Given the description of an element on the screen output the (x, y) to click on. 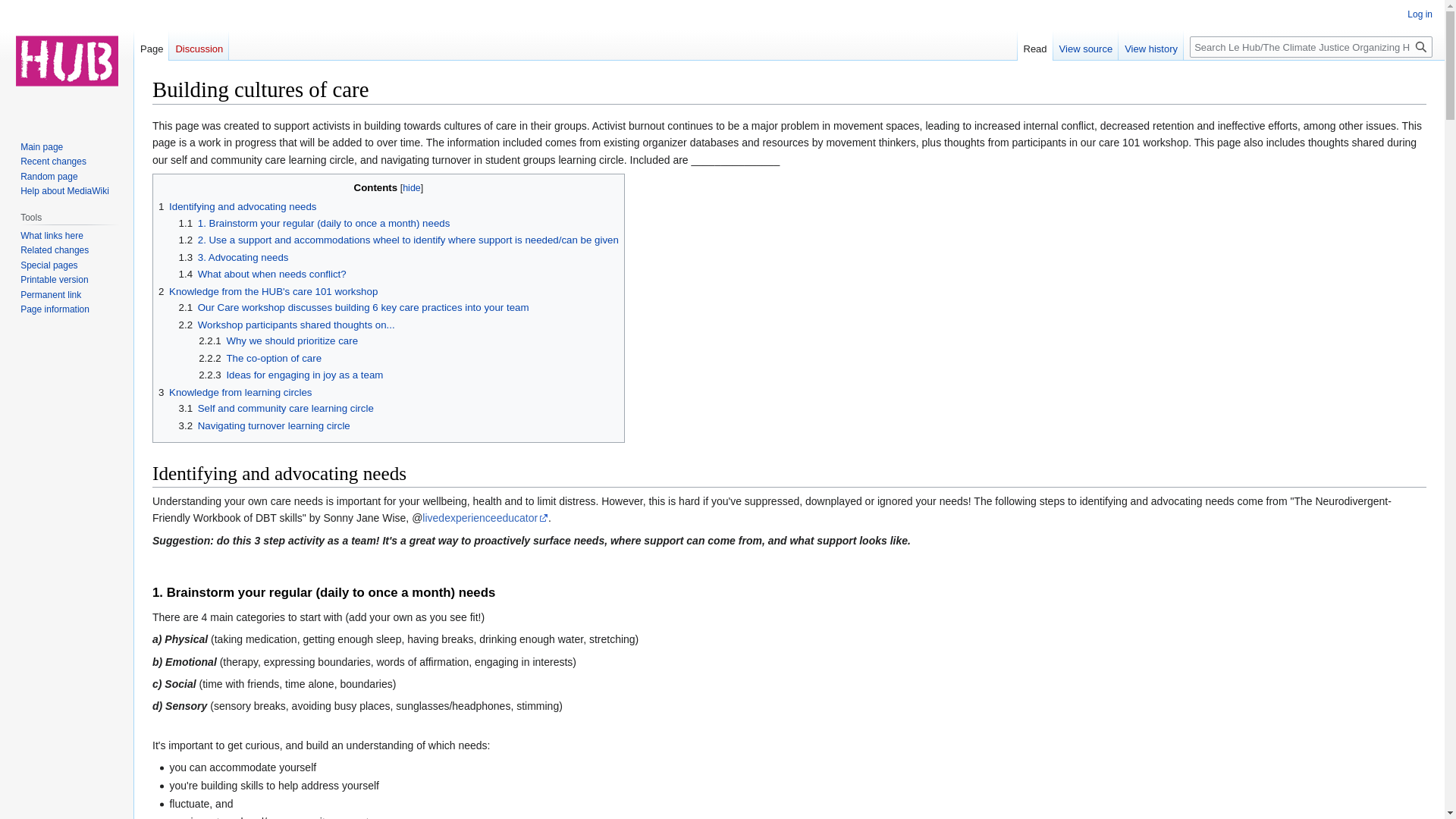
Visit the main page (66, 60)
Search (1420, 46)
Log in (1419, 14)
Go (1420, 46)
Read (1034, 45)
3.2 Navigating turnover learning circle (264, 425)
Page (150, 45)
1 Identifying and advocating needs (236, 206)
Search (1420, 46)
1.3 3. Advocating needs (233, 256)
Search (1420, 46)
2.2 Workshop participants shared thoughts on... (286, 324)
2 Knowledge from the HUB's care 101 workshop (267, 291)
3.1 Self and community care learning circle (276, 408)
2.2.3 Ideas for engaging in joy as a team (290, 374)
